Given the description of an element on the screen output the (x, y) to click on. 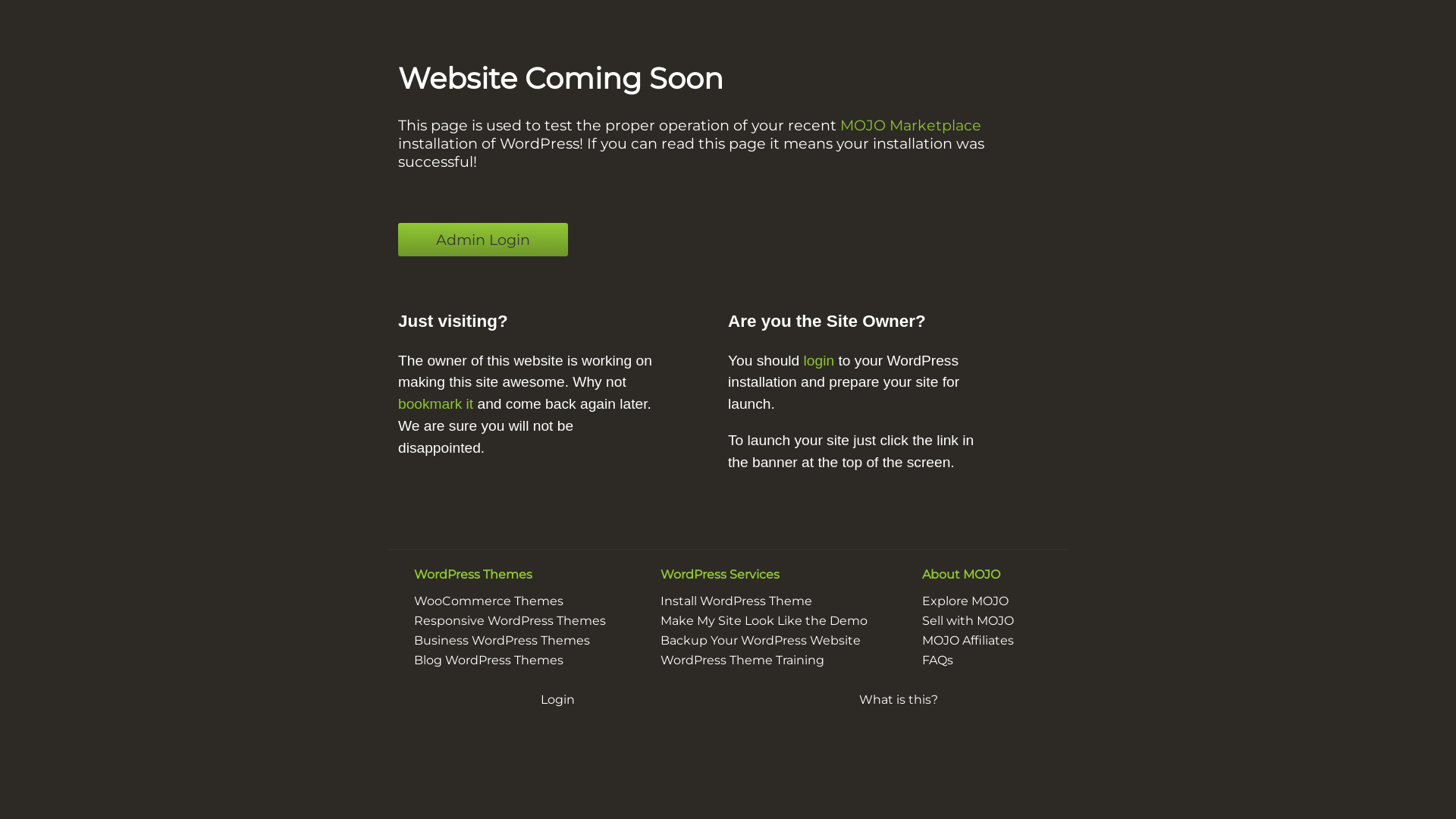
Install WordPress Theme Element type: text (736, 600)
Business WordPress Themes Element type: text (501, 640)
Blog WordPress Themes Element type: text (488, 659)
Explore MOJO Element type: text (965, 600)
bookmark it Element type: text (435, 403)
About MOJO Element type: text (961, 574)
MOJO Marketplace Element type: text (910, 125)
Login Element type: text (557, 699)
What is this? Element type: text (898, 699)
WordPress Theme Training Element type: text (742, 659)
Admin Login Element type: text (482, 239)
MOJO Affiliates Element type: text (967, 640)
FAQs Element type: text (937, 659)
login Element type: text (818, 360)
Responsive WordPress Themes Element type: text (509, 620)
WordPress Themes Element type: text (473, 574)
WordPress Services Element type: text (719, 574)
Backup Your WordPress Website Element type: text (760, 640)
WooCommerce Themes Element type: text (488, 600)
Sell with MOJO Element type: text (967, 620)
Make My Site Look Like the Demo Element type: text (763, 620)
